Given the description of an element on the screen output the (x, y) to click on. 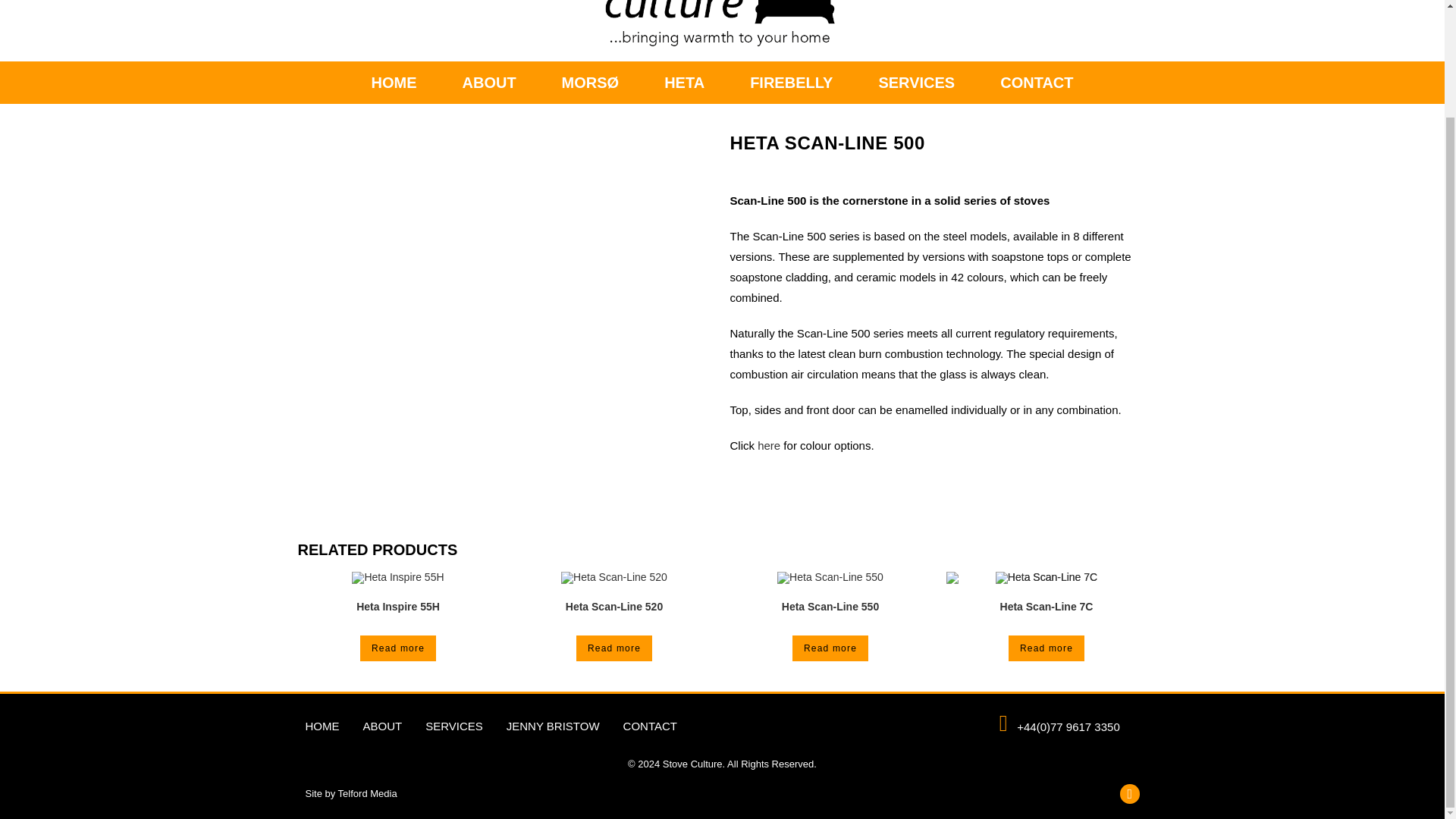
CONTACT (1036, 82)
SERVICES (916, 82)
HOME (394, 82)
FIREBELLY (791, 82)
ABOUT (488, 82)
HETA (684, 82)
